Given the description of an element on the screen output the (x, y) to click on. 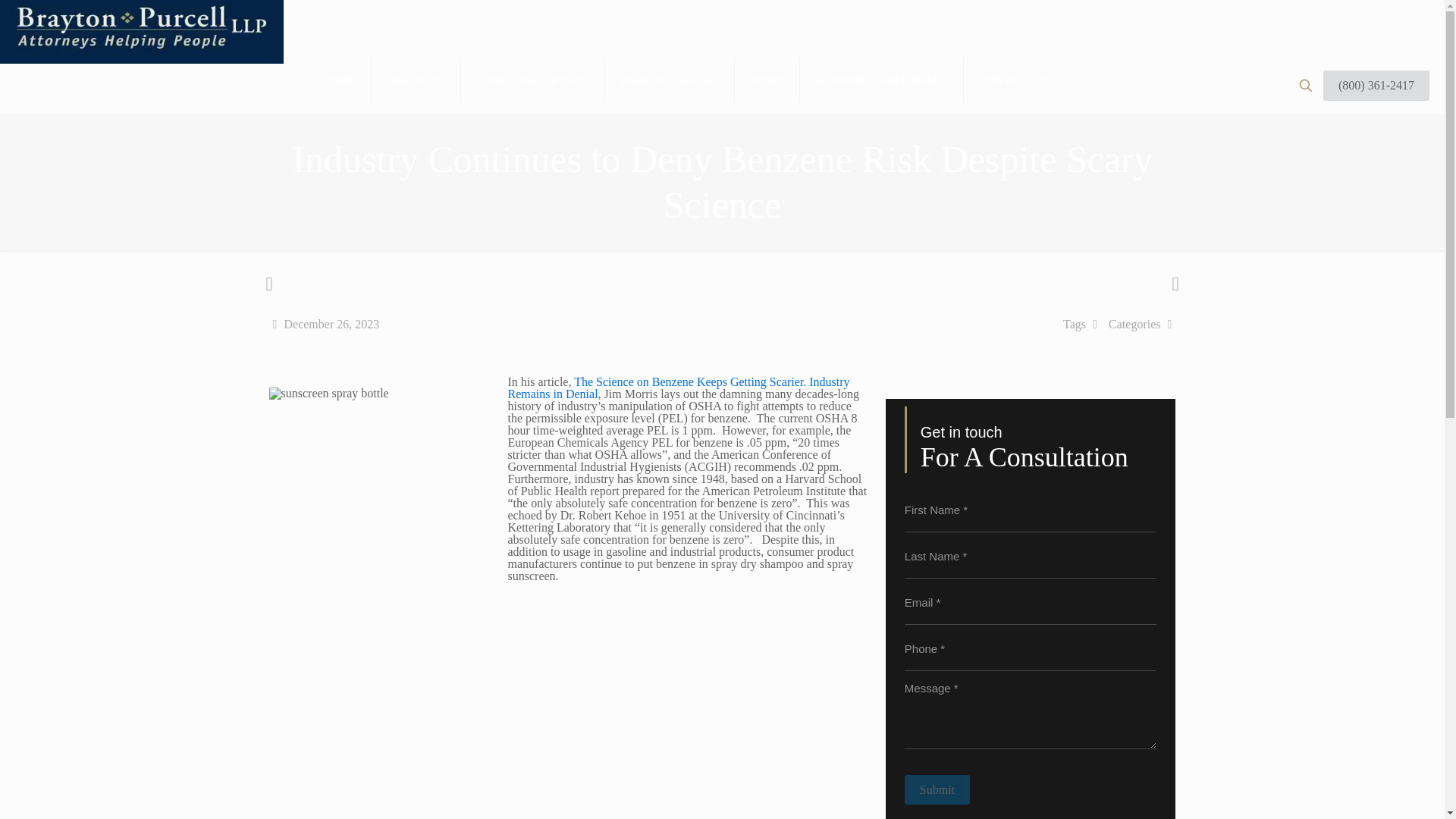
Submit (936, 789)
COURT SUCCESSES (533, 79)
PRACTICE AREAS (670, 79)
Spanish Site (44, 22)
ABOUT US (415, 79)
Brayton Purcell LLP (141, 85)
HOME (338, 79)
